Given the description of an element on the screen output the (x, y) to click on. 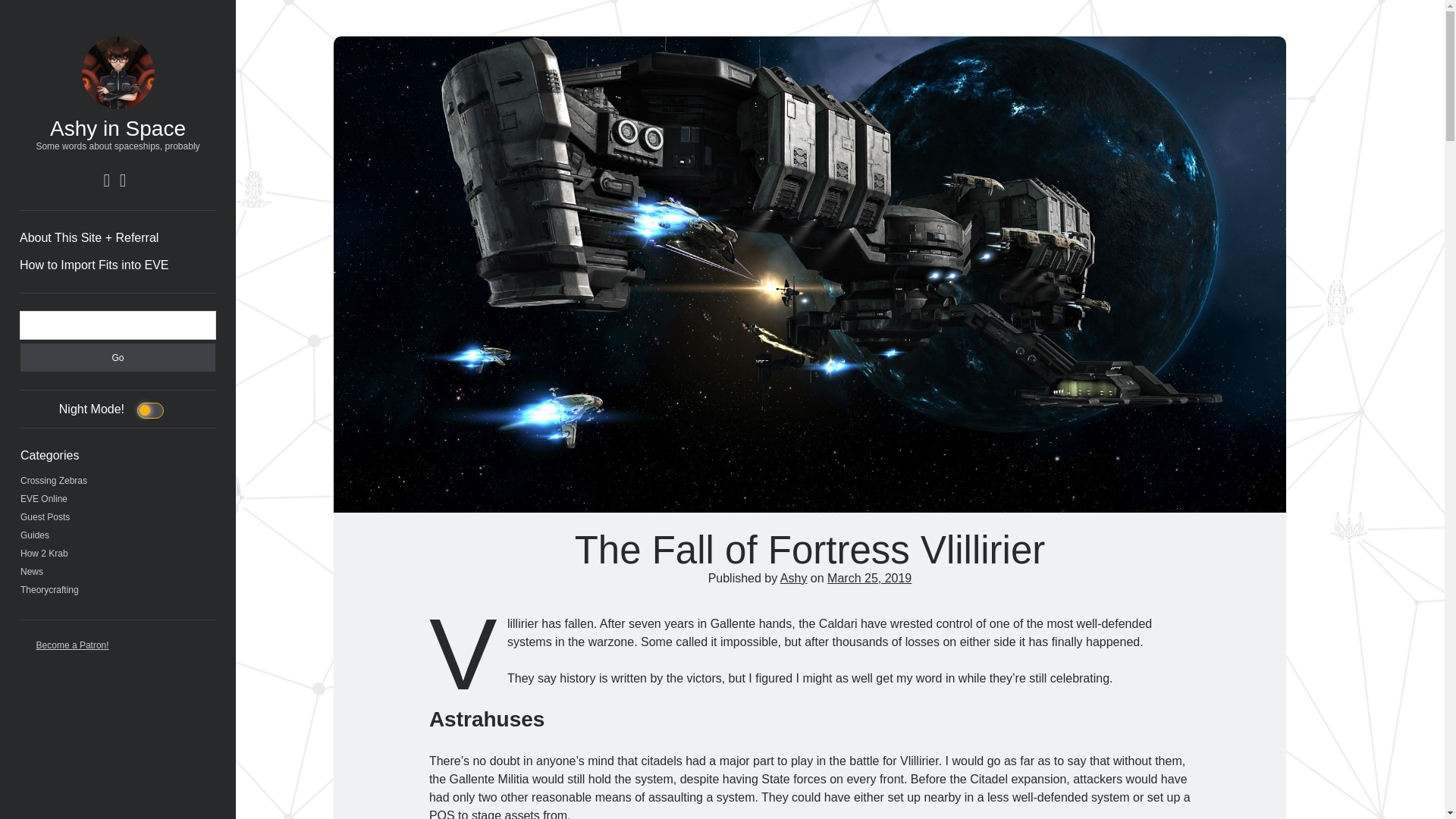
Become a Patron! (72, 644)
How to Import Fits into EVE (94, 265)
Guides (34, 534)
News (31, 571)
EVE Online (43, 498)
Crossing Zebras (53, 480)
Go (117, 357)
How 2 Krab (44, 552)
Go (117, 357)
Guest Posts (44, 516)
Go (117, 357)
Ashy in Space (117, 128)
Theorycrafting (49, 589)
Search for: (117, 325)
Ashy in Space avatar (117, 72)
